Given the description of an element on the screen output the (x, y) to click on. 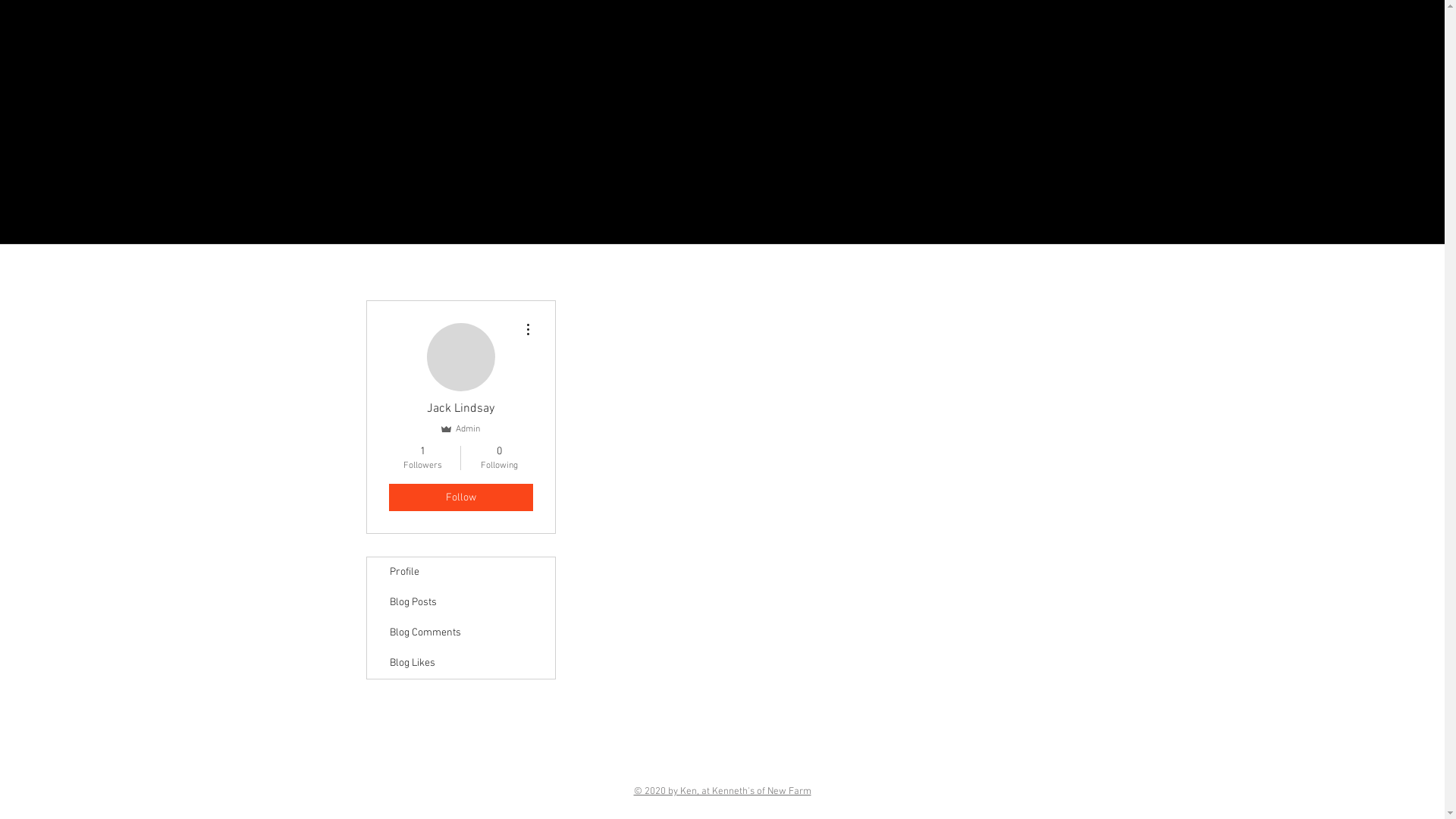
Blog Comments Element type: text (461, 633)
Blog Posts Element type: text (461, 602)
Follow Element type: text (460, 497)
1
Followers Element type: text (421, 457)
13/75 Welsby St, New Farm QLD 4005 Element type: text (721, 766)
Blog Likes Element type: text (461, 663)
Profile Element type: text (461, 572)
0
Following Element type: text (499, 457)
